Given the description of an element on the screen output the (x, y) to click on. 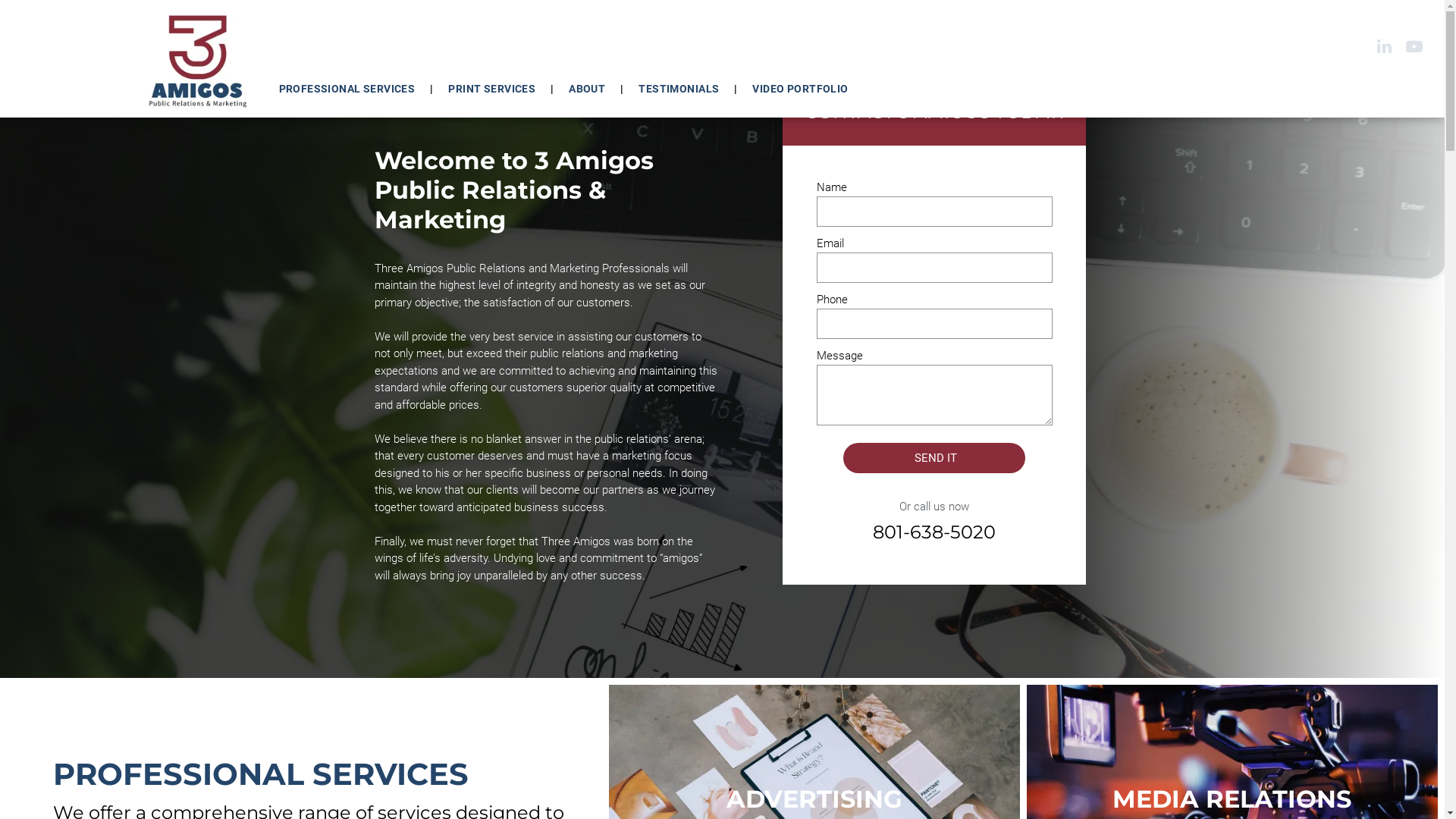
ABOUT Element type: text (586, 88)
SEND IT Element type: text (935, 457)
VIDEO PORTFOLIO Element type: text (799, 88)
PROFESSIONAL SERVICES Element type: text (346, 88)
TESTIMONIALS Element type: text (678, 88)
PRINT SERVICES Element type: text (491, 88)
